Given the description of an element on the screen output the (x, y) to click on. 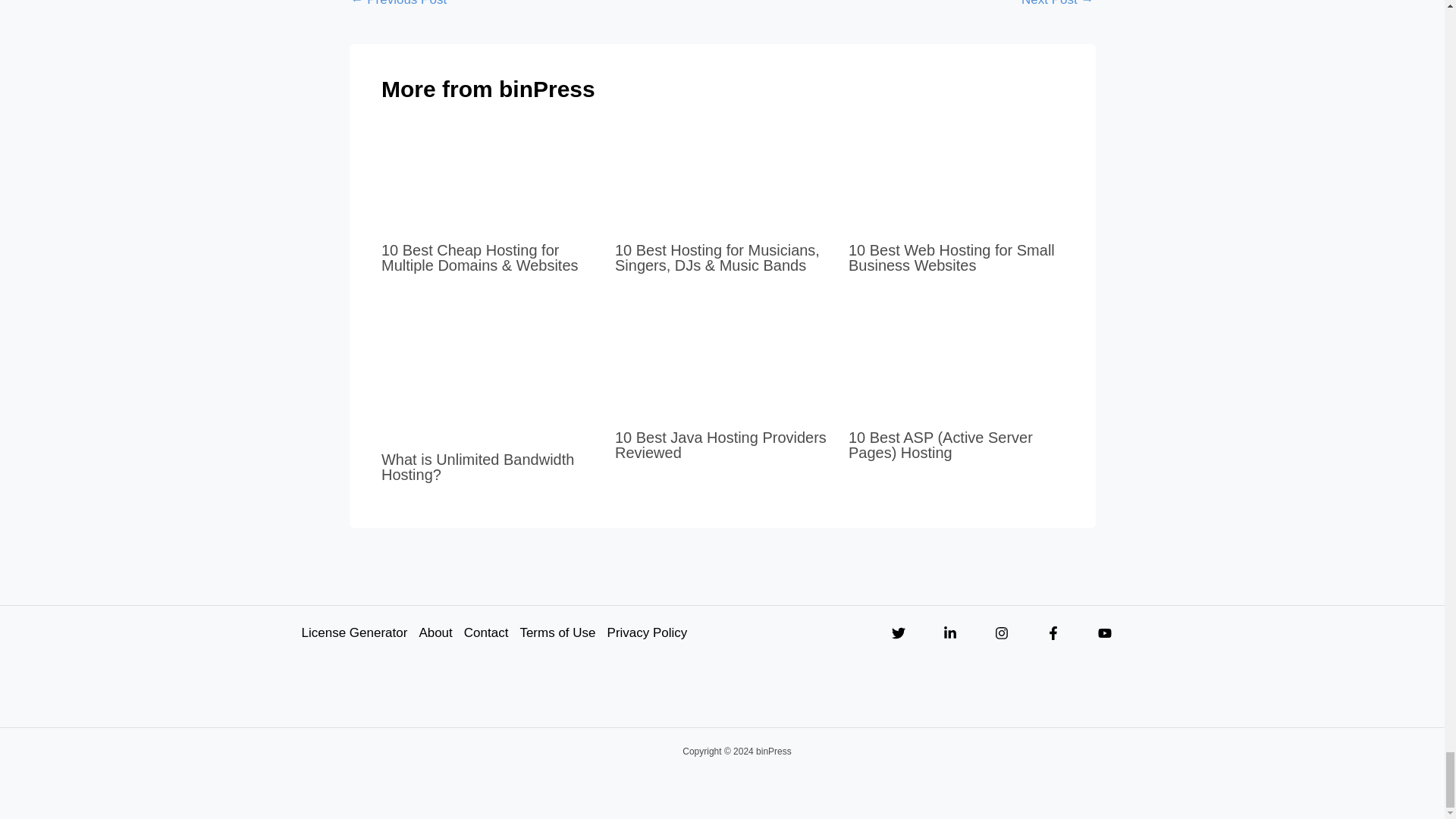
How to Choose the Right Web Host? (1057, 8)
What is Unlimited Bandwidth Hosting? (477, 467)
How Web Hosting Works? (398, 8)
10 Best Java Hosting Providers Reviewed (720, 445)
10 Best Web Hosting for Small Business Websites (951, 257)
